Given the description of an element on the screen output the (x, y) to click on. 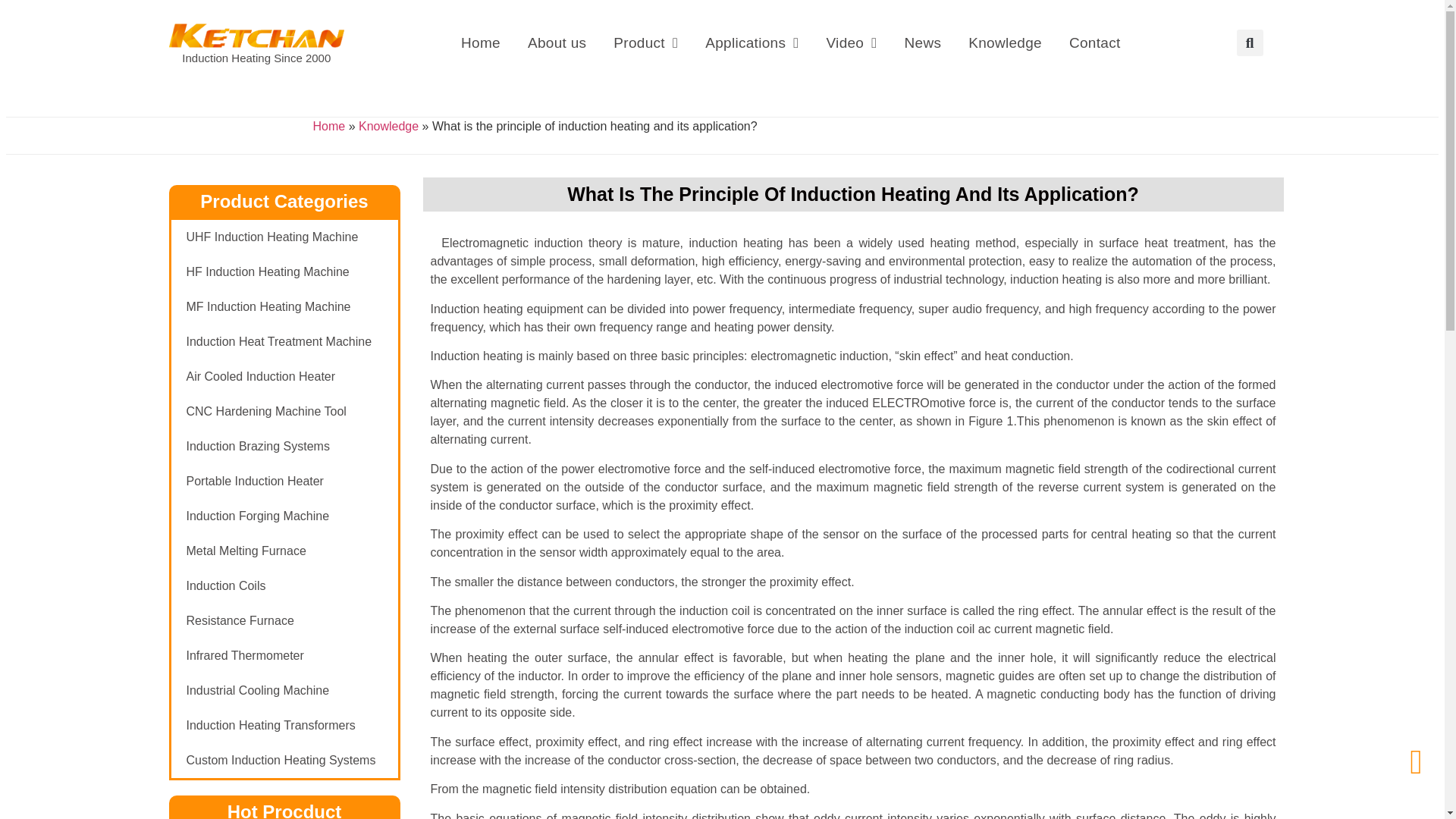
Video (850, 42)
About us (556, 42)
Product (645, 42)
Home (479, 42)
Applications (751, 42)
